Given the description of an element on the screen output the (x, y) to click on. 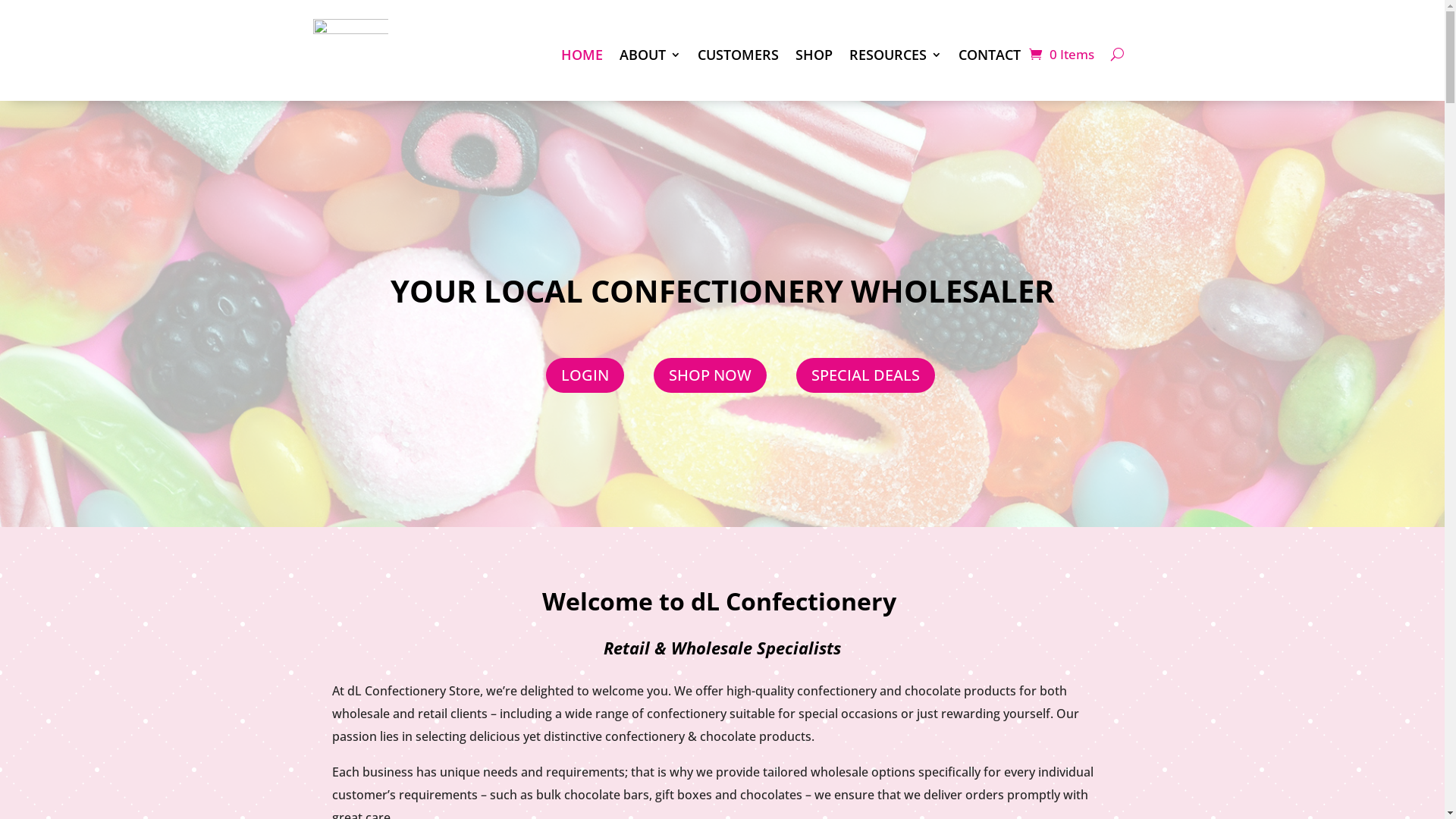
CONTACT Element type: text (989, 53)
RESOURCES Element type: text (895, 53)
0 Items Element type: text (1060, 53)
HOME Element type: text (581, 53)
SHOP Element type: text (812, 53)
LOGIN Element type: text (585, 374)
SPECIAL DEALS Element type: text (865, 374)
CUSTOMERS Element type: text (737, 53)
SHOP NOW Element type: text (709, 374)
ABOUT Element type: text (649, 53)
